Given the description of an element on the screen output the (x, y) to click on. 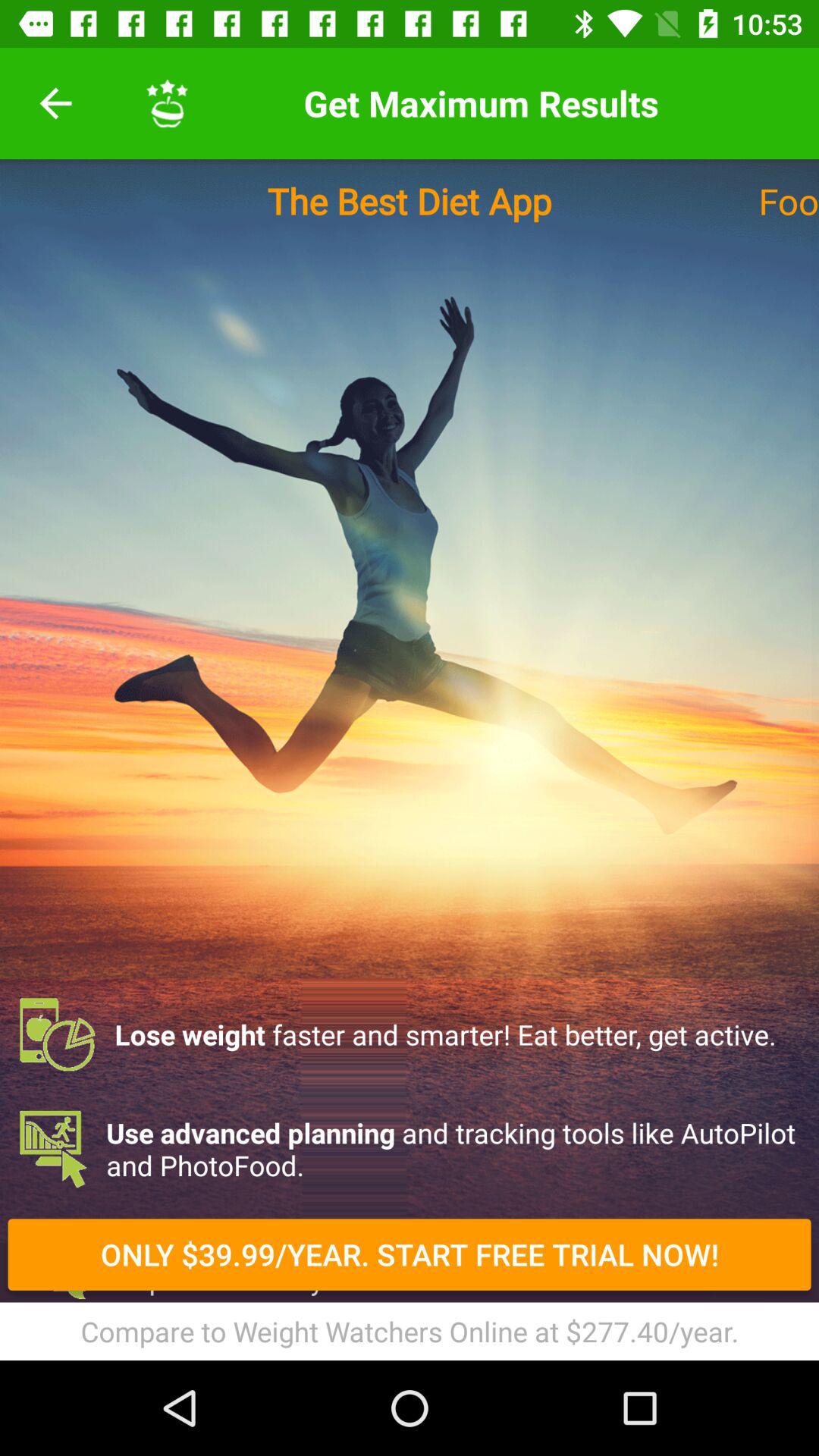
scroll until the use advanced planning item (409, 1148)
